Given the description of an element on the screen output the (x, y) to click on. 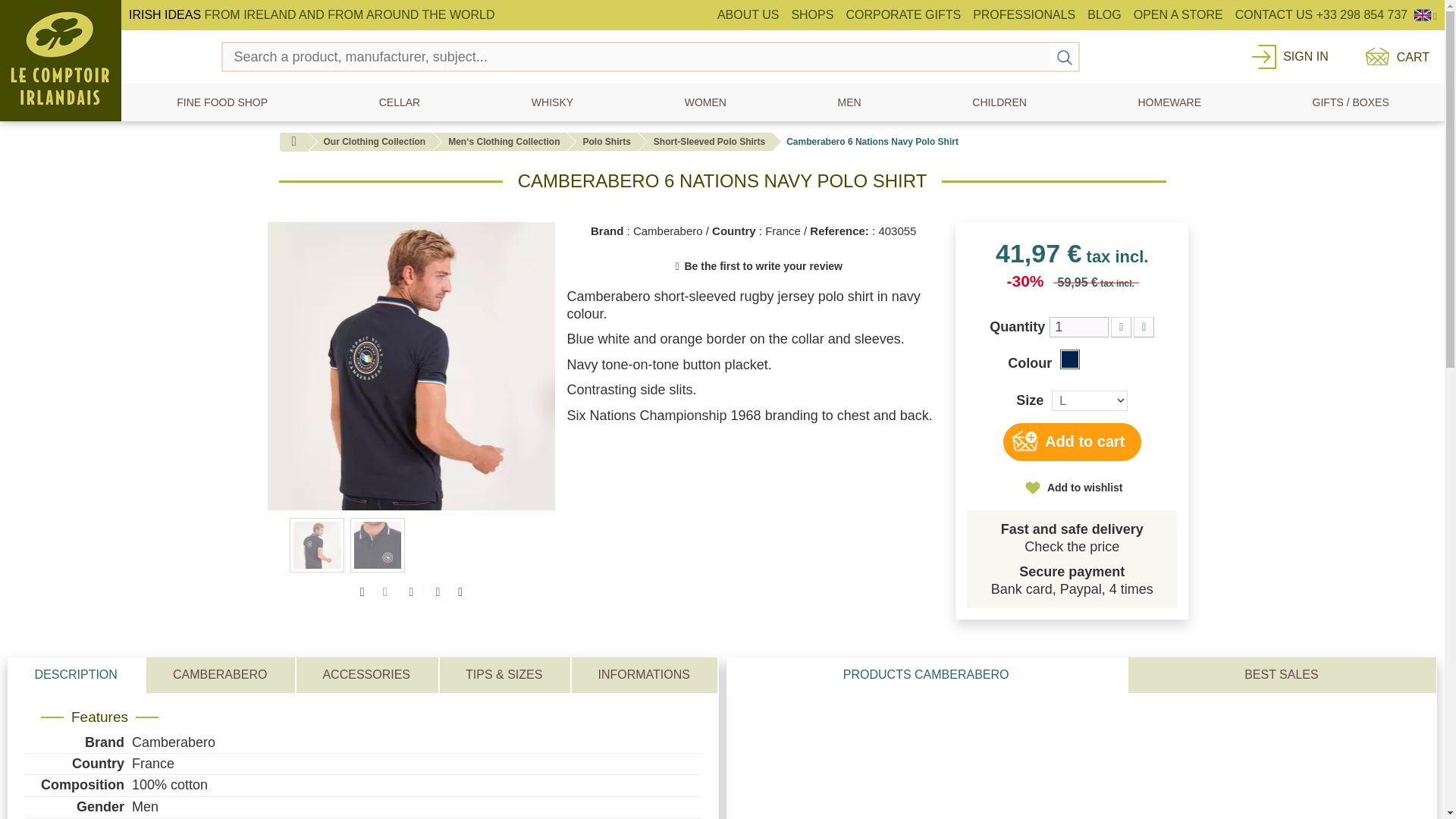
1 (1078, 326)
FINE FOOD SHOP (221, 102)
OPEN A STORE (1177, 15)
SIGN IN (1304, 56)
CORPORATE GIFTS (903, 15)
PROFESSIONALS (1023, 15)
BLOG (1103, 15)
Log in to your customer account (1304, 56)
ABOUT US (748, 15)
View my shopping cart (1393, 56)
CART (1393, 56)
Fine food shop (221, 102)
SHOPS (812, 15)
